Given the description of an element on the screen output the (x, y) to click on. 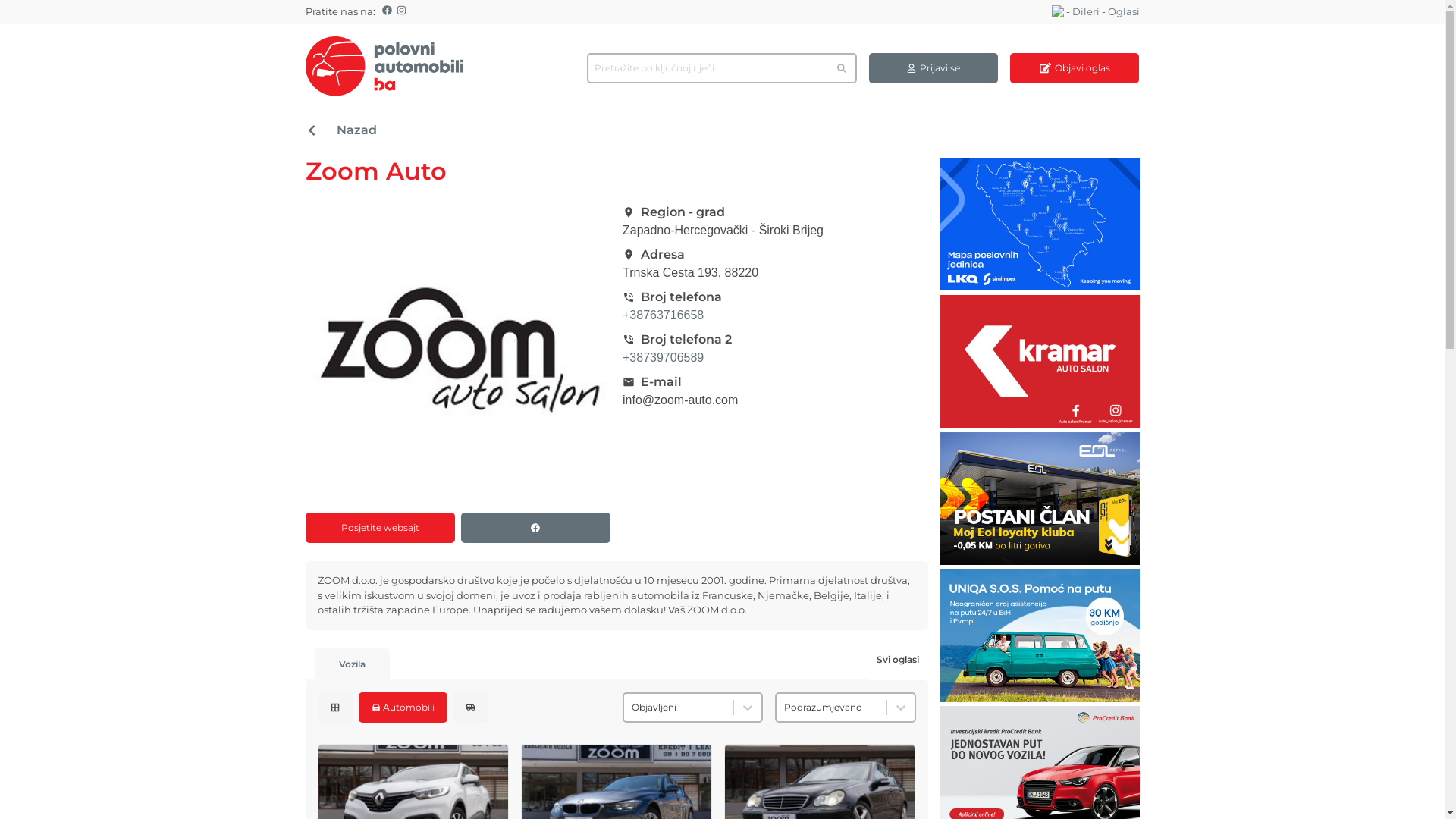
Oglasi Element type: text (1123, 11)
+38763716658 Element type: text (662, 314)
Kombi i laka dostavna vozila Element type: hover (470, 706)
Nazad Element type: text (721, 130)
Objavi oglas Element type: text (1074, 68)
Dileri Element type: text (1085, 11)
Zoom Auto Element type: hover (457, 355)
Prijavi se Element type: text (933, 68)
Posjetite websajt Element type: text (379, 527)
+38739706589 Element type: text (662, 357)
 Automobili Element type: text (401, 706)
Svi oglasi Element type: text (897, 658)
Svi Element type: hover (333, 706)
